Given the description of an element on the screen output the (x, y) to click on. 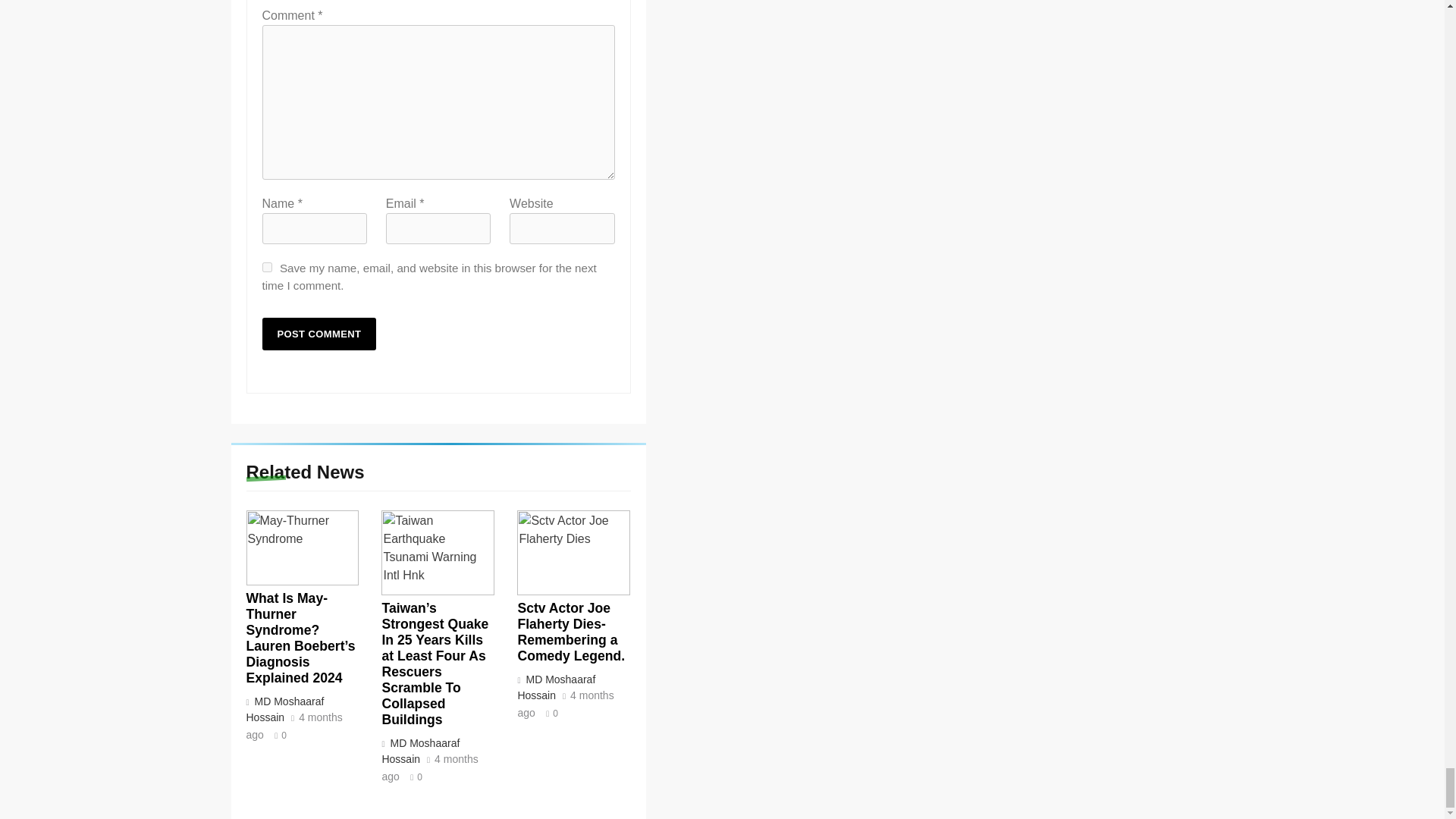
MD Moshaaraf Hossain (555, 687)
Sctv Actor Joe Flaherty Dies- Remembering a Comedy Legend. (570, 631)
4 months ago (294, 726)
MD Moshaaraf Hossain (420, 750)
4 months ago (429, 768)
Post Comment (319, 333)
yes (267, 266)
Post Comment (319, 333)
MD Moshaaraf Hossain (284, 709)
4 months ago (564, 705)
Sctv Actor Joe Flaherty Dies- Remembering a Comedy Legend. (573, 552)
